Given the description of an element on the screen output the (x, y) to click on. 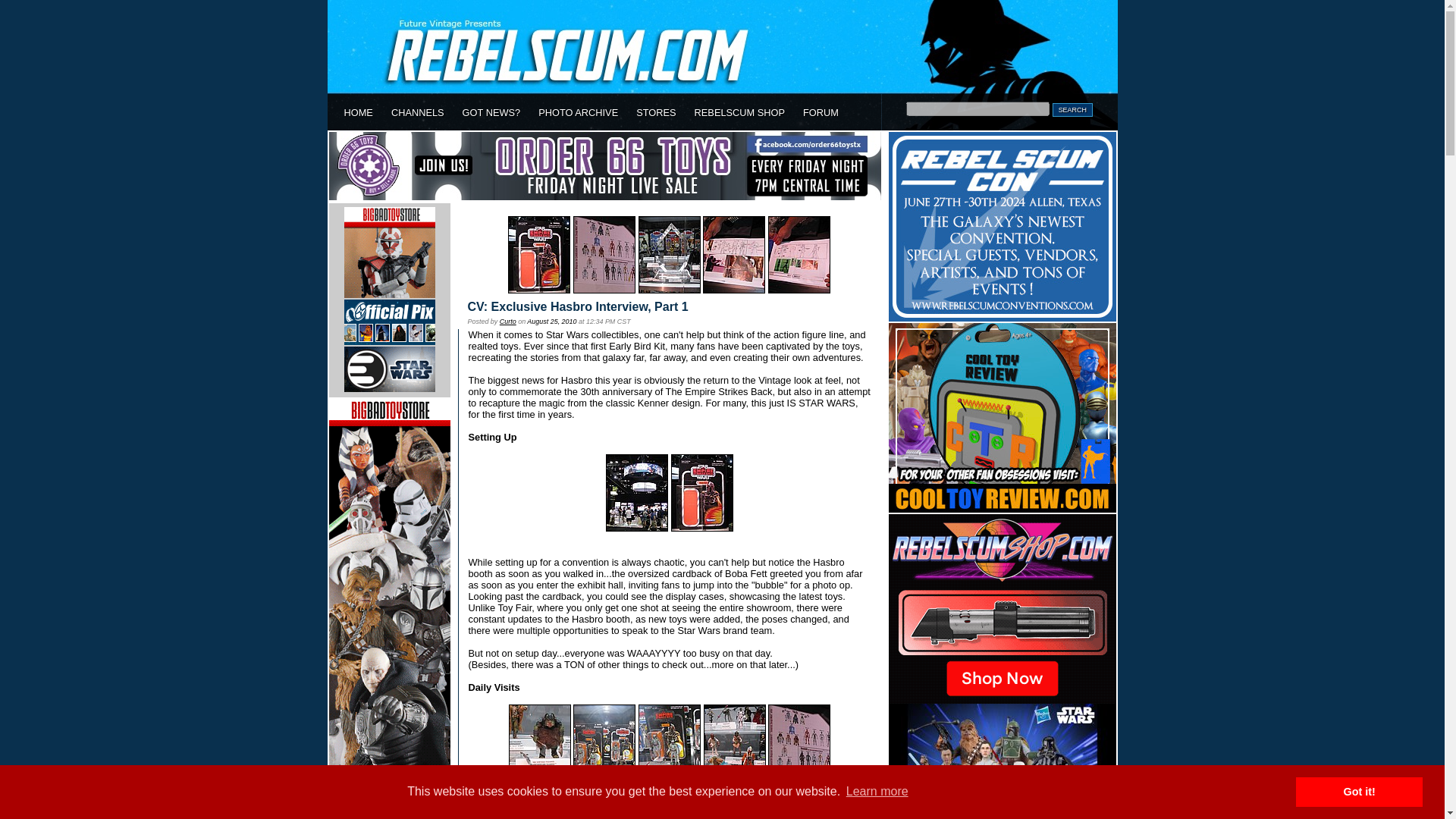
SEARCH (1072, 110)
Got it! (1358, 791)
CHANNELS (417, 112)
Learn more (877, 791)
HOME (357, 112)
